Given the description of an element on the screen output the (x, y) to click on. 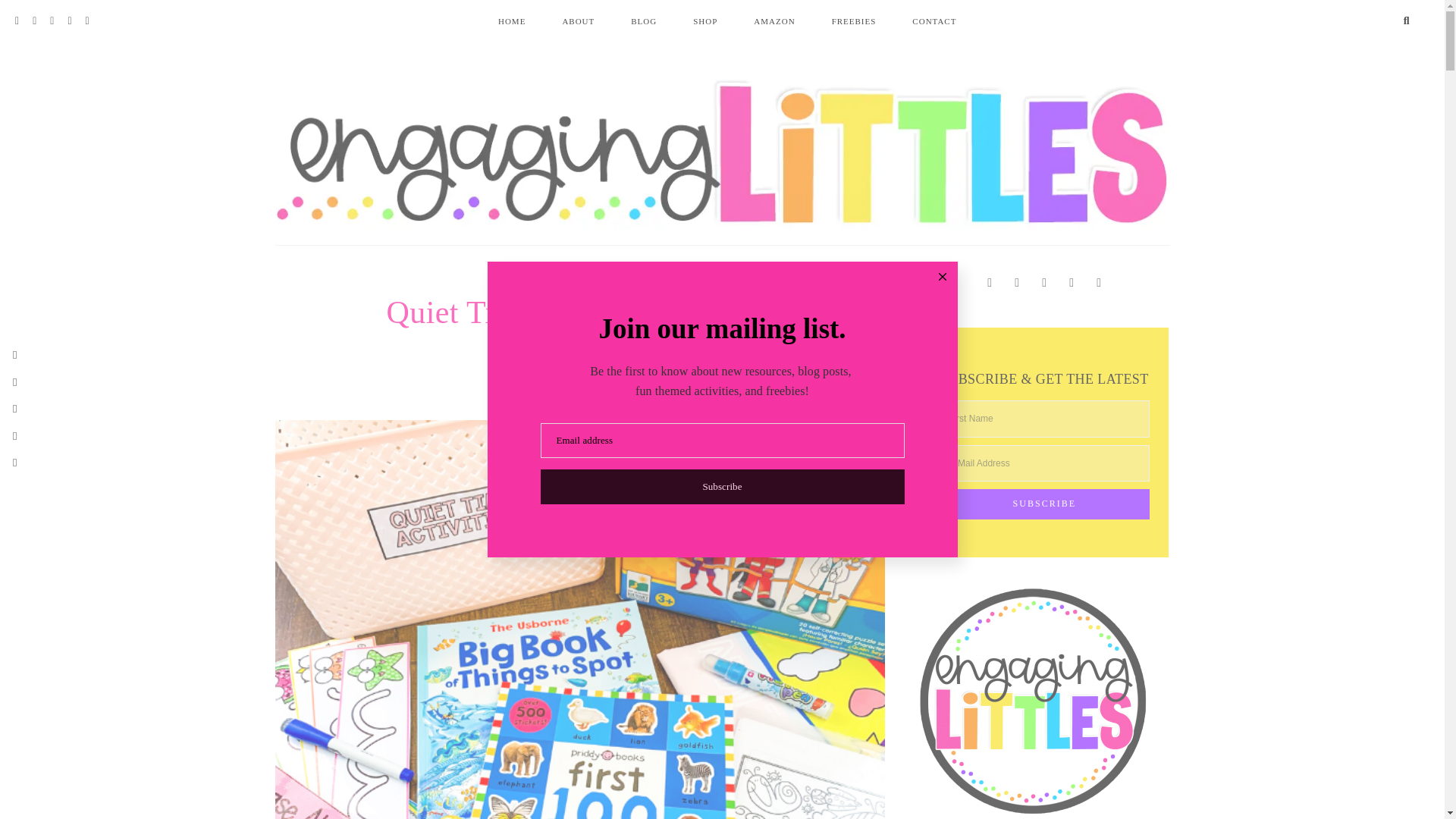
Subscribe (1044, 503)
